Given the description of an element on the screen output the (x, y) to click on. 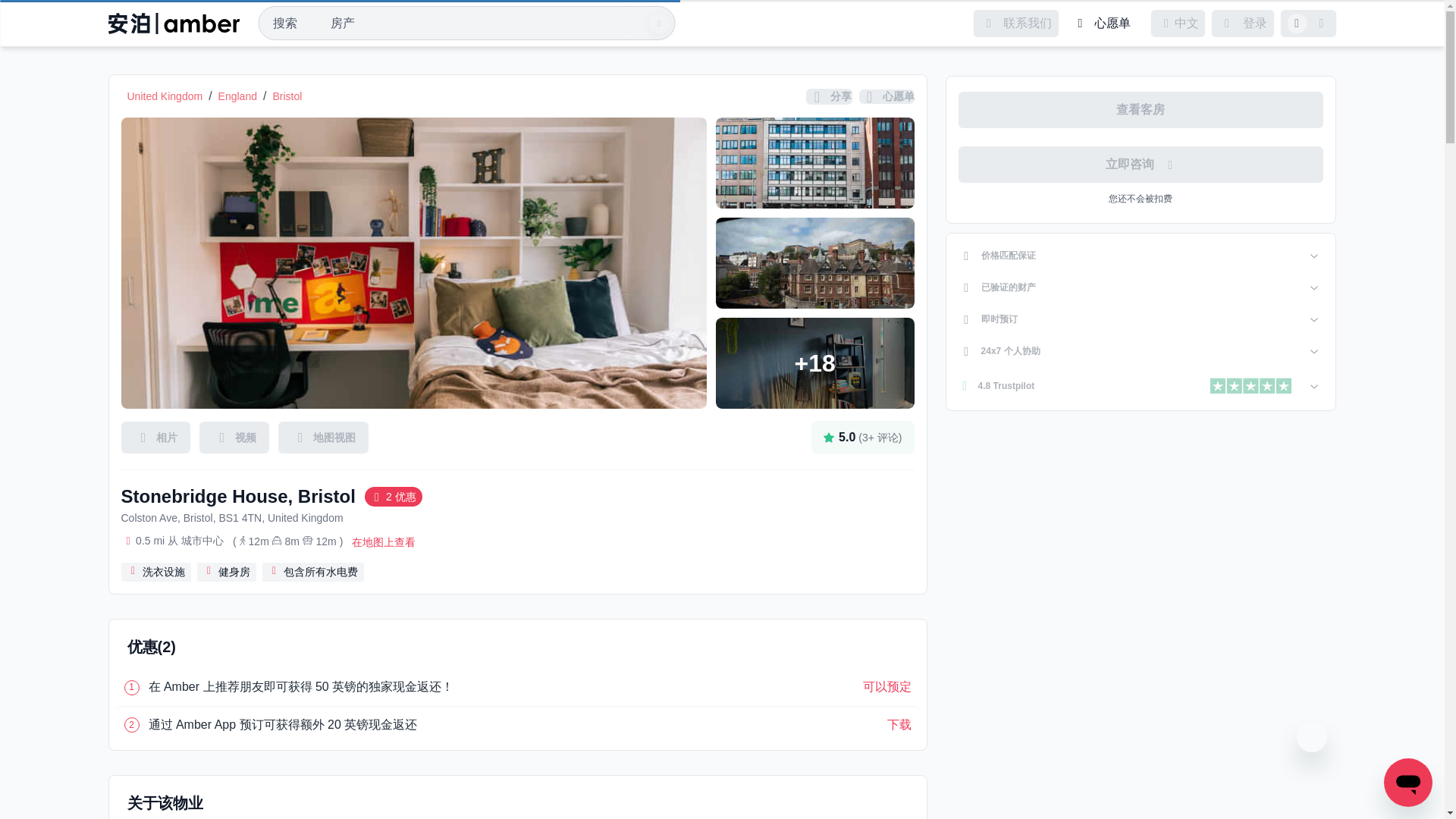
Bristol (286, 95)
Close message (1311, 736)
United Kingdom (164, 95)
England (237, 95)
Button to launch messaging window (1408, 782)
